Given the description of an element on the screen output the (x, y) to click on. 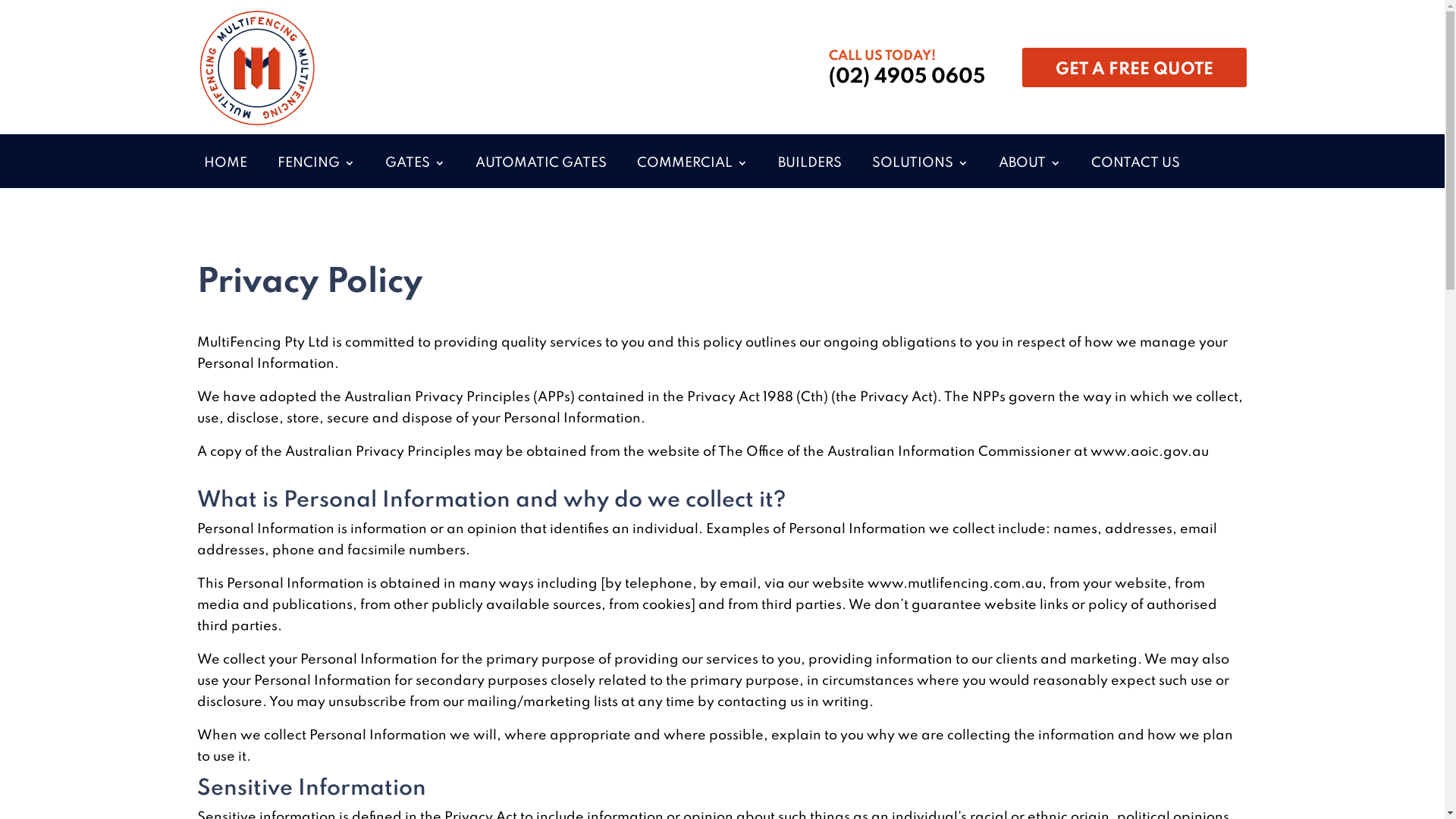
COMMERCIAL Element type: text (692, 163)
GATES Element type: text (415, 163)
(02) 4905 0605 Element type: text (906, 76)
FENCING Element type: text (315, 163)
HOME Element type: text (224, 163)
CONTACT US Element type: text (1134, 163)
SOLUTIONS Element type: text (920, 163)
ABOUT Element type: text (1028, 163)
Multi Fencing Lgo Element type: hover (256, 66)
BUILDERS Element type: text (809, 163)
AUTOMATIC GATES Element type: text (539, 163)
GET A FREE QUOTE Element type: text (1134, 66)
